Given the description of an element on the screen output the (x, y) to click on. 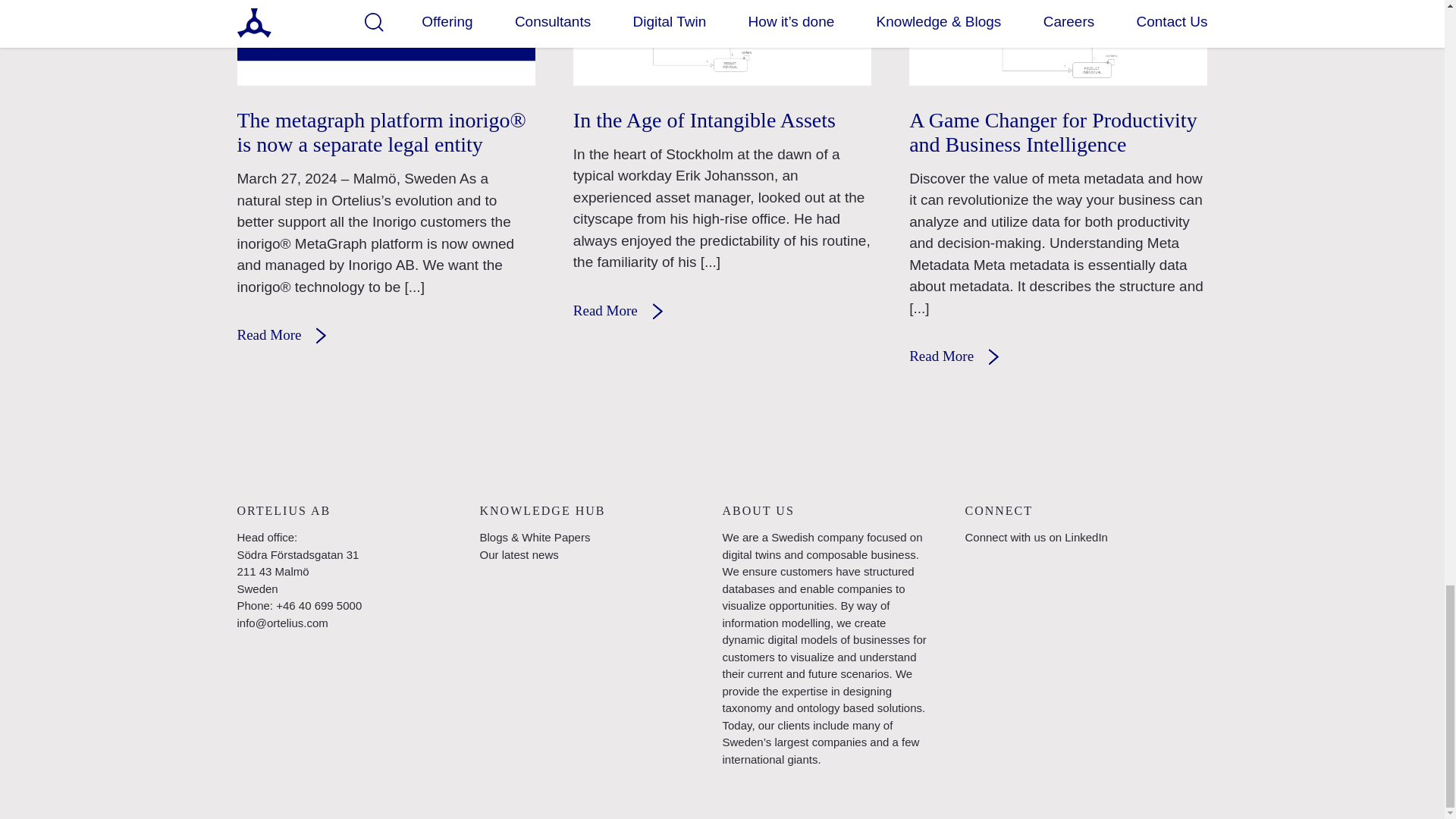
Connect with us on LinkedIn (1034, 536)
Read More (627, 312)
Read More (290, 336)
Read More (962, 357)
Our latest news (518, 554)
